Given the description of an element on the screen output the (x, y) to click on. 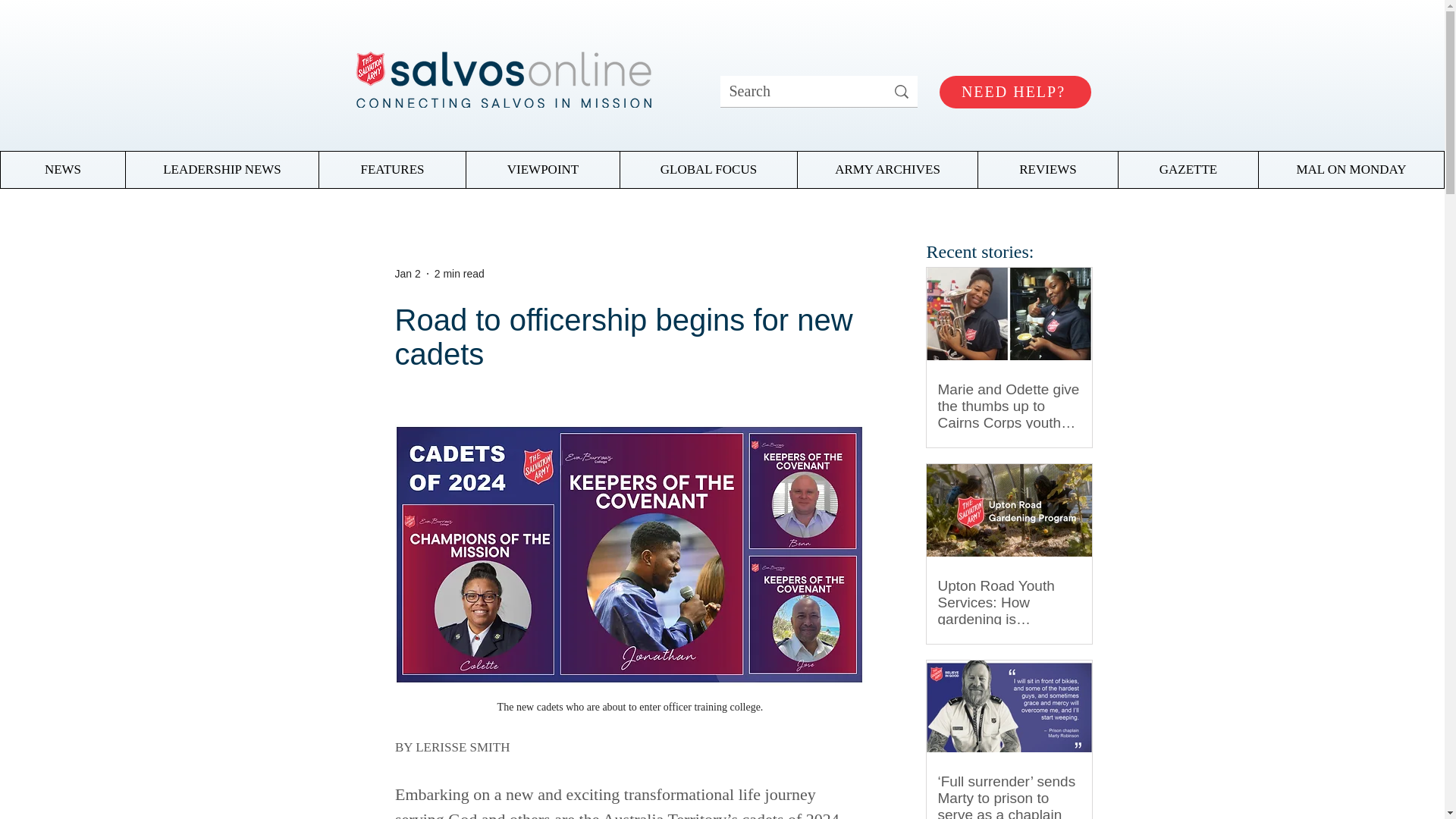
2 min read (458, 272)
MAL ON MONDAY (1350, 169)
NEED HELP? (1014, 92)
Jan 2 (407, 272)
GLOBAL FOCUS (708, 169)
Salvos Online with slogan.png (501, 74)
FEATURES (391, 169)
ARMY ARCHIVES (886, 169)
